Given the description of an element on the screen output the (x, y) to click on. 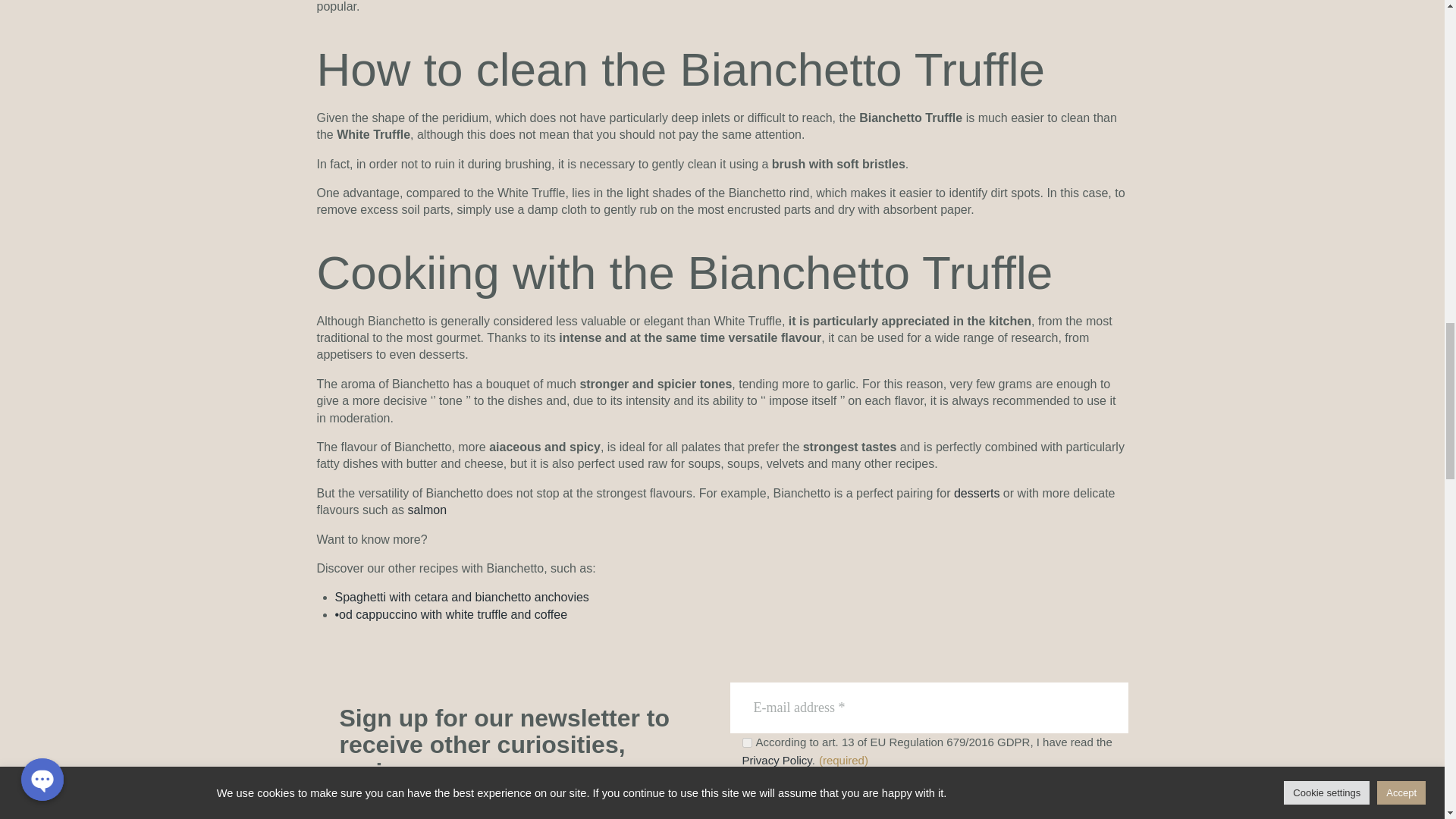
1 (746, 742)
Subscribe (956, 793)
